Given the description of an element on the screen output the (x, y) to click on. 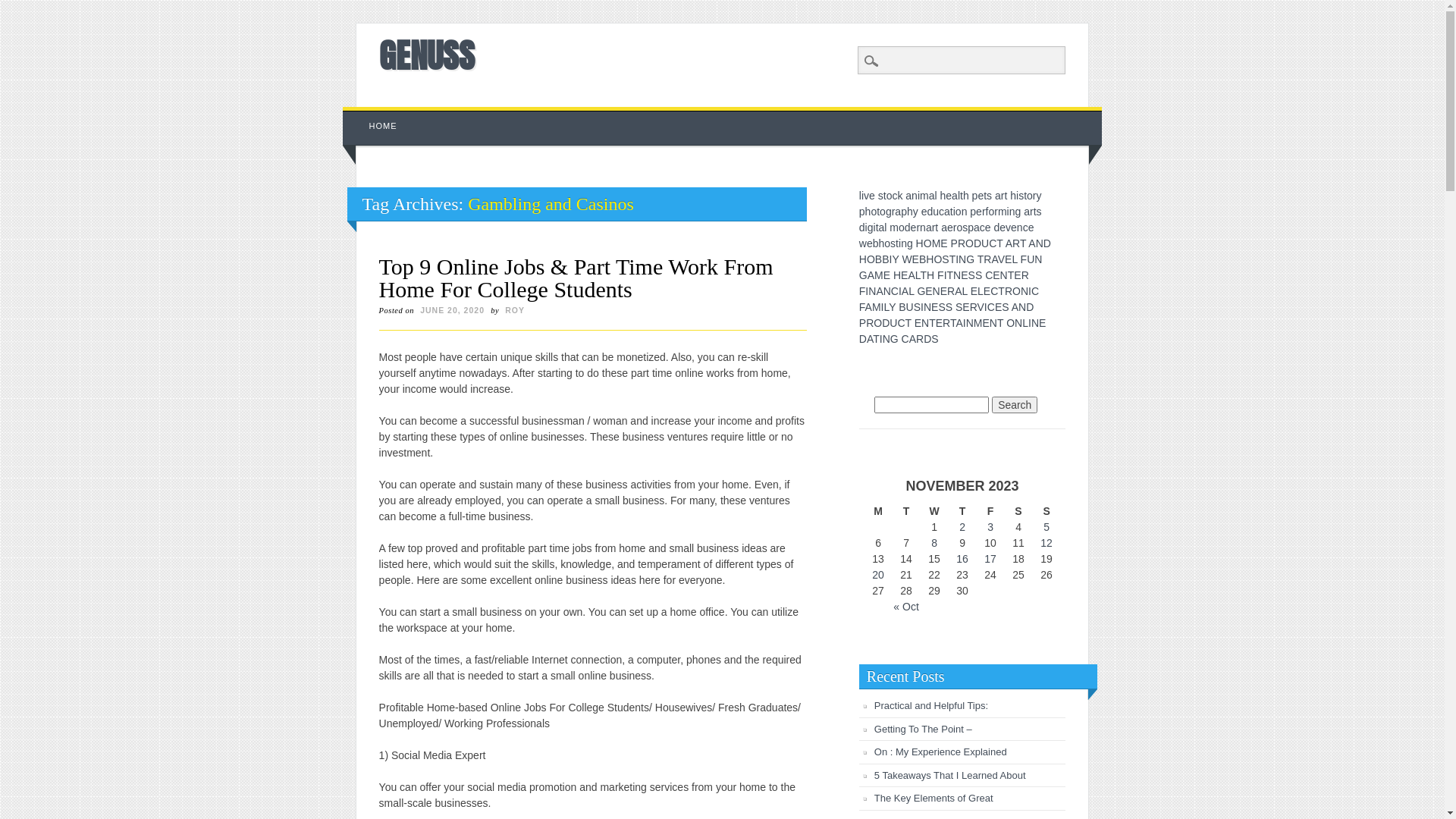
d Element type: text (862, 227)
n Element type: text (914, 195)
s Element type: text (1038, 211)
B Element type: text (878, 259)
g Element type: text (909, 243)
a Element type: text (976, 227)
a Element type: text (908, 195)
I Element type: text (1029, 291)
T Element type: text (1000, 322)
t Element type: text (936, 227)
e Element type: text (988, 227)
A Element type: text (1031, 243)
e Element type: text (913, 227)
B Element type: text (901, 307)
D Element type: text (862, 338)
Skip to content Element type: text (377, 114)
d Element type: text (907, 227)
n Element type: text (1019, 227)
r Element type: text (1002, 195)
C Element type: text (988, 275)
U Element type: text (893, 322)
T Element type: text (952, 259)
S Element type: text (944, 259)
A Element type: text (957, 291)
20 Element type: text (878, 574)
I Element type: text (889, 259)
C Element type: text (894, 291)
B Element type: text (884, 259)
w Element type: text (862, 243)
Y Element type: text (891, 307)
R Element type: text (1008, 291)
N Element type: text (1037, 259)
E Element type: text (917, 322)
V Element type: text (980, 307)
e Element type: text (869, 243)
JUNE 20, 2020 Element type: text (452, 309)
T Element type: text (1022, 243)
e Element type: text (980, 195)
F Element type: text (862, 307)
r Element type: text (1034, 195)
N Element type: text (1022, 307)
e Element type: text (924, 211)
E Element type: text (928, 291)
I Element type: text (882, 307)
N Element type: text (887, 291)
p Element type: text (970, 227)
t Element type: text (951, 211)
s Element type: text (988, 195)
C Element type: text (993, 291)
t Element type: text (896, 243)
B Element type: text (922, 259)
S Element type: text (948, 307)
m Element type: text (893, 227)
E Element type: text (995, 275)
v Element type: text (866, 195)
C Element type: text (1034, 291)
N Element type: text (886, 338)
N Element type: text (871, 291)
e Element type: text (1002, 227)
o Element type: text (882, 211)
U Element type: text (1030, 259)
N Element type: text (1024, 291)
R Element type: text (950, 291)
M Element type: text (876, 307)
A Element type: text (878, 291)
k Element type: text (899, 195)
g Element type: text (888, 211)
c Element type: text (982, 227)
E Element type: text (963, 275)
GENUSS Element type: text (426, 55)
t Element type: text (984, 195)
16 Element type: text (962, 558)
r Element type: text (1031, 211)
c Element type: text (894, 195)
F Element type: text (862, 291)
s Element type: text (964, 227)
i Element type: text (1017, 195)
E Element type: text (938, 322)
a Element type: text (1026, 211)
H Element type: text (862, 259)
O Element type: text (877, 322)
U Element type: text (909, 307)
A Element type: text (868, 307)
a Element type: text (928, 227)
y Element type: text (1038, 195)
S Element type: text (958, 307)
U Element type: text (984, 243)
d Element type: text (929, 211)
D Element type: text (1029, 307)
L Element type: text (885, 307)
T Element type: text (953, 322)
The Key Elements of Great Element type: text (933, 797)
E Element type: text (934, 307)
c Element type: text (1025, 227)
A Element type: text (994, 259)
d Element type: text (996, 227)
O Element type: text (1016, 291)
G Element type: text (970, 259)
E Element type: text (997, 307)
T Element type: text (980, 259)
N Element type: text (969, 322)
T Element type: text (908, 322)
e Element type: text (872, 195)
3 Element type: text (990, 526)
C Element type: text (990, 307)
O Element type: text (927, 243)
R Element type: text (973, 307)
u Element type: text (935, 211)
I Element type: text (866, 291)
W Element type: text (906, 259)
S Element type: text (934, 338)
R Element type: text (946, 322)
N Element type: text (962, 259)
N Element type: text (993, 322)
E Element type: text (943, 291)
A Element type: text (958, 322)
a Element type: text (931, 195)
C Element type: text (900, 322)
A Element type: text (1014, 307)
2 Element type: text (962, 526)
p Element type: text (862, 211)
h Element type: text (868, 211)
T Element type: text (999, 243)
M Element type: text (878, 275)
R Element type: text (919, 338)
ROY Element type: text (514, 309)
a Element type: text (881, 227)
I Element type: text (964, 322)
N Element type: text (956, 275)
m Element type: text (1002, 211)
t Element type: text (961, 195)
Y Element type: text (894, 259)
G Element type: text (894, 338)
e Element type: text (978, 211)
E Element type: text (886, 275)
R Element type: text (1025, 275)
M Element type: text (977, 322)
S Element type: text (971, 275)
b Element type: text (875, 243)
T Element type: text (1000, 291)
s Element type: text (1020, 195)
N Element type: text (924, 322)
S Element type: text (1004, 307)
m Element type: text (923, 195)
L Element type: text (1013, 259)
N Element type: text (927, 307)
E Element type: text (985, 322)
D Element type: text (927, 338)
T Element type: text (950, 275)
L Element type: text (917, 275)
R Element type: text (987, 259)
n Element type: text (964, 211)
I Element type: text (921, 307)
o Element type: text (959, 227)
f Element type: text (986, 211)
a Element type: text (944, 227)
Search Element type: text (22, 8)
l Element type: text (935, 195)
D Element type: text (1047, 243)
A Element type: text (869, 338)
o Element type: text (901, 227)
A Element type: text (1008, 243)
I Element type: text (899, 291)
i Element type: text (918, 195)
N Element type: text (1034, 322)
e Element type: text (950, 227)
17 Element type: text (990, 558)
h Element type: text (909, 211)
H Element type: text (929, 259)
T Element type: text (931, 322)
n Element type: text (903, 243)
F Element type: text (940, 275)
A Element type: text (912, 338)
e Element type: text (1031, 227)
a Element type: text (954, 195)
M Element type: text (936, 243)
5 Takeaways That I Learned About Element type: text (950, 775)
o Element type: text (873, 211)
I Element type: text (985, 307)
h Element type: text (1013, 195)
A Element type: text (910, 275)
r Element type: text (983, 211)
t Element type: text (877, 211)
o Element type: text (1029, 195)
i Element type: text (862, 195)
r Element type: text (995, 211)
a Element type: text (947, 211)
h Element type: text (881, 243)
R Element type: text (869, 322)
a Element type: text (897, 211)
S Element type: text (916, 307)
s Element type: text (892, 243)
r Element type: text (917, 227)
o Element type: text (991, 211)
n Element type: text (922, 227)
A Element type: text (904, 291)
T Element type: text (923, 275)
i Element type: text (954, 211)
t Element type: text (1034, 211)
H Element type: text (919, 243)
p Element type: text (972, 211)
E Element type: text (903, 275)
I Element type: text (880, 338)
r Element type: text (893, 211)
O Element type: text (969, 243)
i Element type: text (1008, 211)
D Element type: text (885, 322)
N Element type: text (1003, 275)
n Element type: text (1012, 211)
o Element type: text (889, 195)
R Element type: text (961, 243)
i Element type: text (866, 227)
g Element type: text (870, 227)
R Element type: text (1015, 243)
t Element type: text (884, 195)
C Element type: text (905, 338)
c Element type: text (941, 211)
L Element type: text (980, 291)
I Element type: text (945, 275)
N Element type: text (1039, 243)
o Element type: text (887, 243)
G Element type: text (920, 291)
l Element type: text (860, 195)
N Element type: text (936, 291)
E Element type: text (1041, 322)
h Element type: text (966, 195)
T Element type: text (875, 338)
V Element type: text (1000, 259)
A Element type: text (870, 275)
S Element type: text (978, 275)
8 Element type: text (934, 542)
O Element type: text (937, 259)
F Element type: text (1023, 259)
t Element type: text (876, 227)
h Element type: text (943, 195)
E Element type: text (1016, 275)
N Element type: text (1018, 322)
o Element type: text (958, 211)
P Element type: text (953, 243)
L Element type: text (1025, 322)
l Element type: text (885, 227)
t Element type: text (1005, 195)
a Element type: text (997, 195)
L Element type: text (910, 291)
L Element type: text (964, 291)
E Element type: text (986, 291)
i Element type: text (874, 227)
O Element type: text (1010, 322)
s Element type: text (880, 195)
E Element type: text (915, 259)
S Element type: text (941, 307)
D Element type: text (977, 243)
T Element type: text (1010, 275)
HOME Element type: text (383, 125)
y Element type: text (915, 211)
Practical and Helpful Tips: Element type: text (931, 705)
G Element type: text (863, 275)
e Element type: text (948, 195)
E Element type: text (943, 243)
C Element type: text (992, 243)
r Element type: text (933, 227)
l Element type: text (958, 195)
e Element type: text (1013, 227)
E Element type: text (973, 291)
On : My Experience Explained Element type: text (940, 751)
H Element type: text (930, 275)
P Element type: text (862, 322)
E Element type: text (965, 307)
I Element type: text (956, 259)
p Element type: text (903, 211)
I Element type: text (1029, 322)
E Element type: text (1007, 259)
12 Element type: text (1046, 542)
i Element type: text (899, 243)
t Element type: text (1024, 195)
Search Element type: text (1014, 404)
p Element type: text (975, 195)
H Element type: text (896, 275)
r Element type: text (955, 227)
v Element type: text (1007, 227)
5 Element type: text (1046, 526)
O Element type: text (870, 259)
g Element type: text (1018, 211)
